Given the description of an element on the screen output the (x, y) to click on. 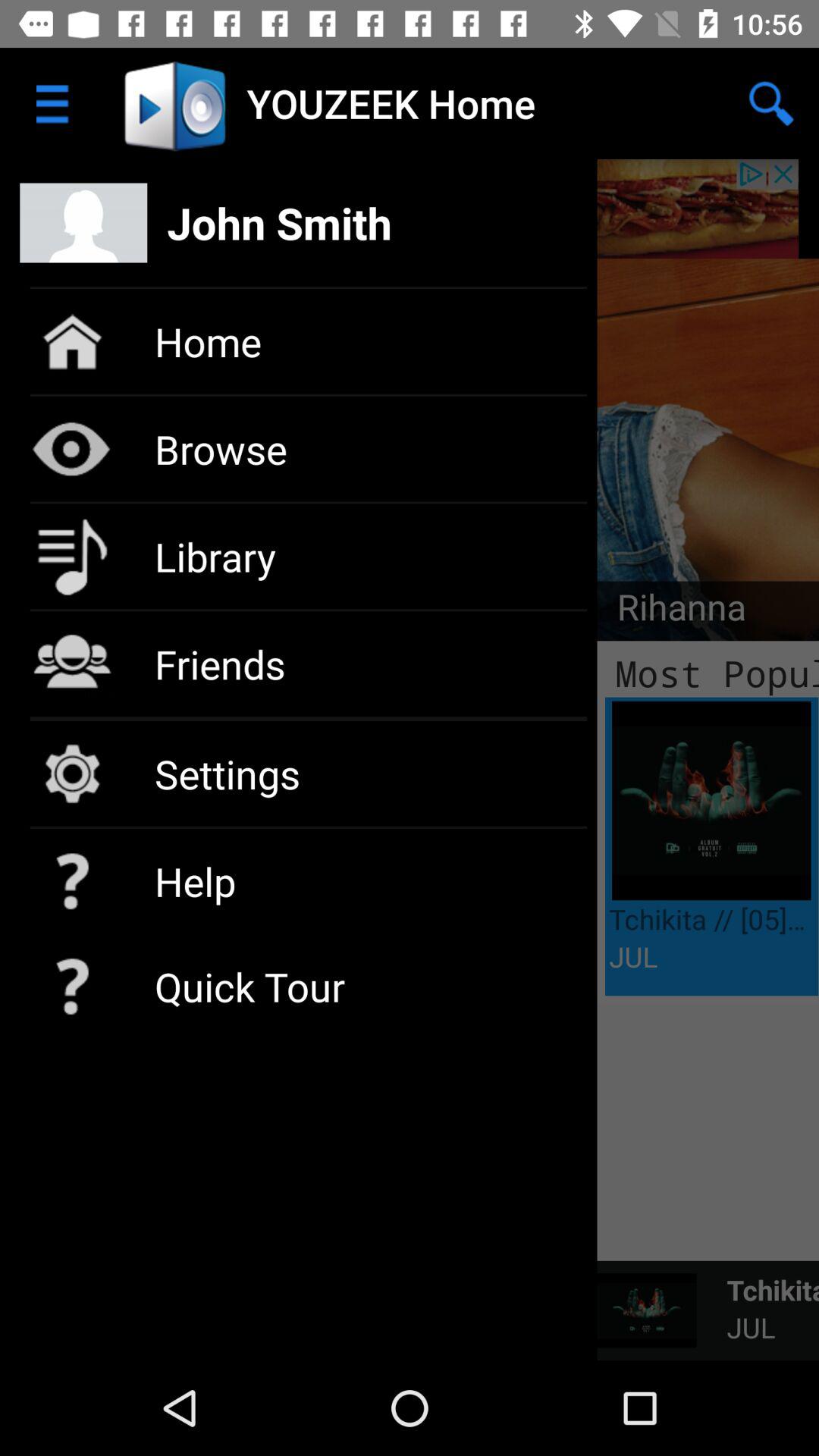
tap rihanna icon (671, 611)
